Given the description of an element on the screen output the (x, y) to click on. 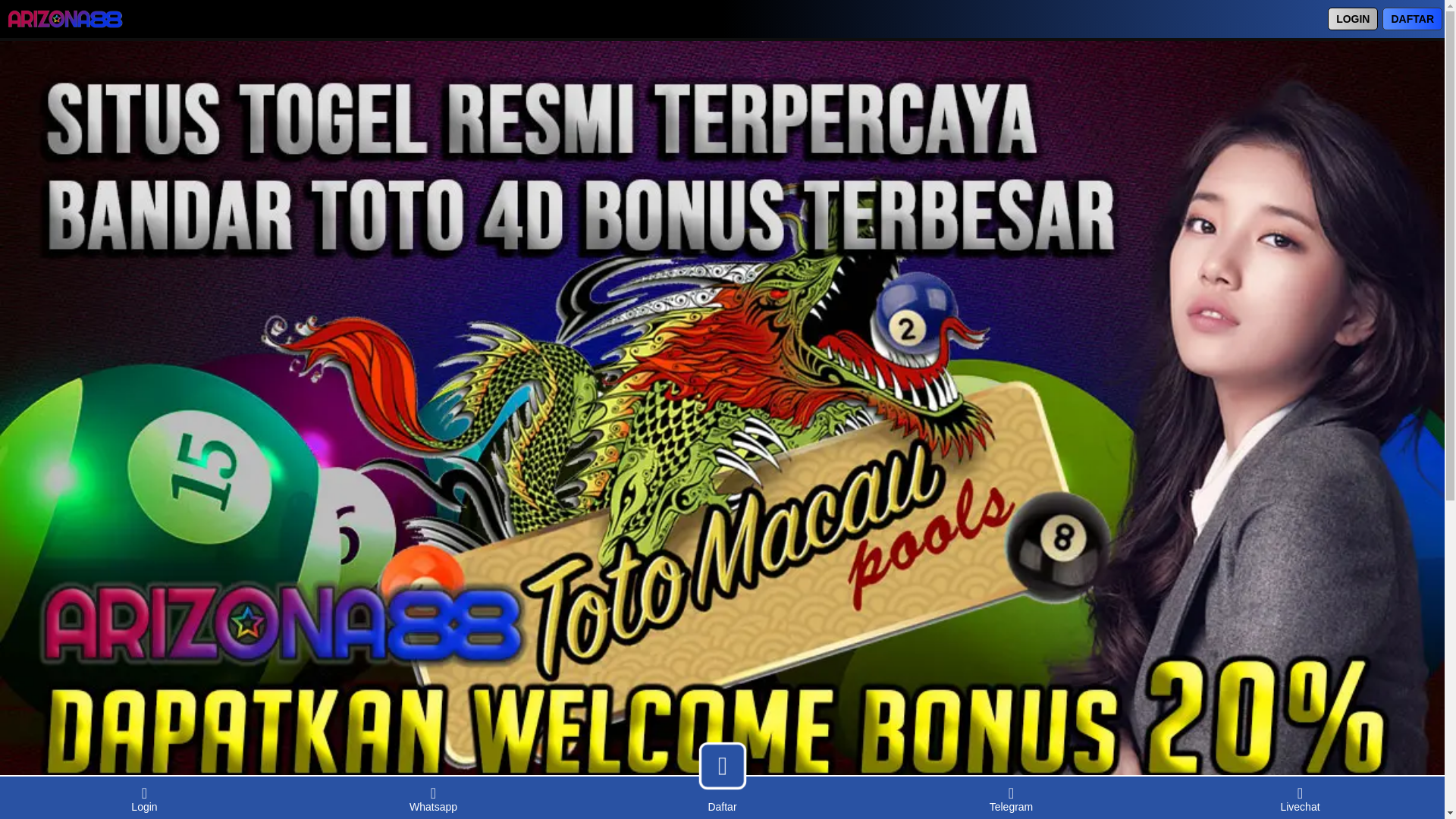
DAFTAR (1411, 18)
Telegram (1011, 797)
Daftar (722, 805)
Login (144, 797)
LOGIN (1352, 18)
Whatsapp (433, 797)
